Given the description of an element on the screen output the (x, y) to click on. 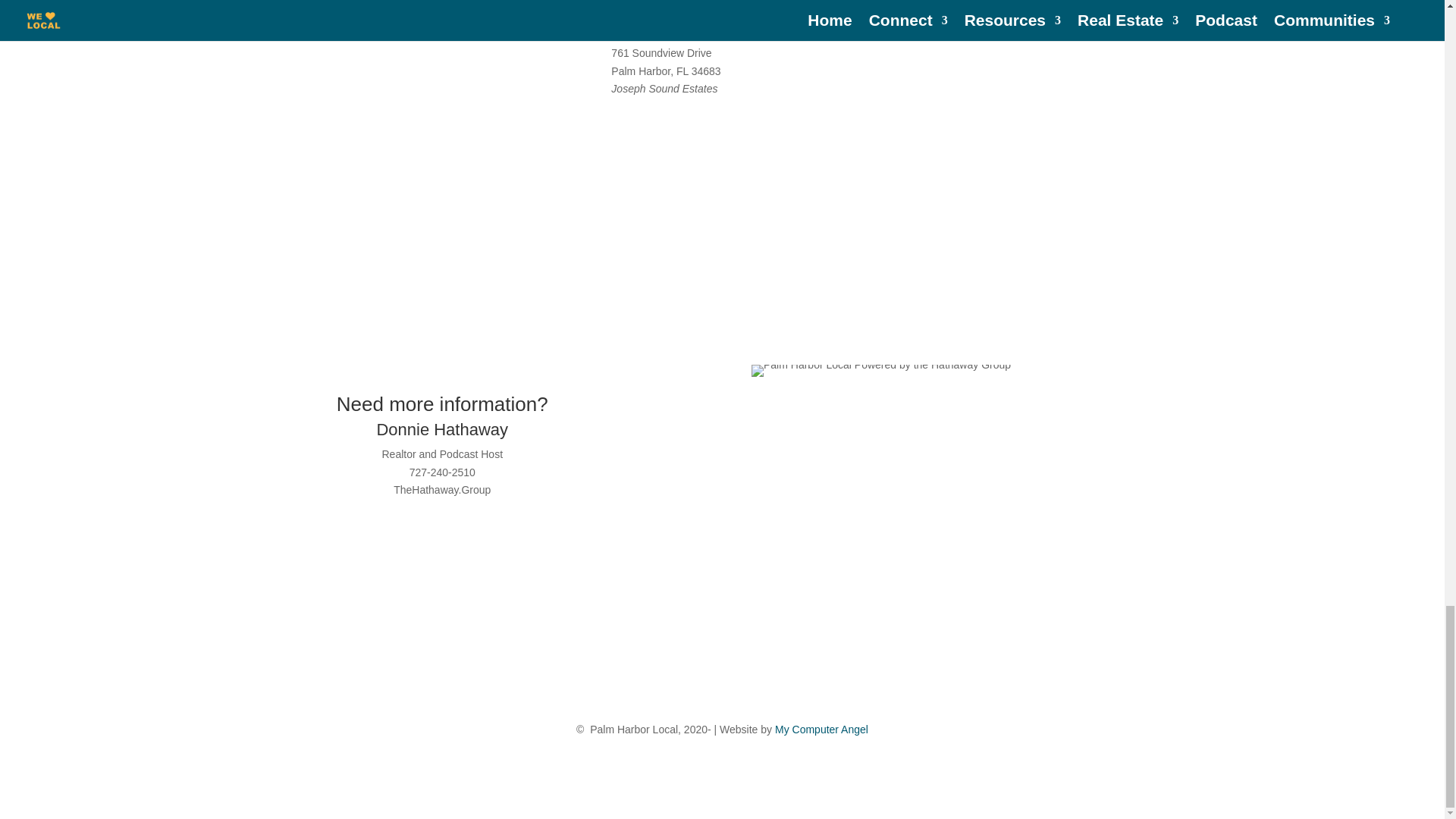
Contact Donnie! (371, 180)
Follow on Podcast (487, 541)
Follow on LinkedIn (456, 541)
Follow on Facebook (396, 541)
Follow on Instagram (426, 541)
